Given the description of an element on the screen output the (x, y) to click on. 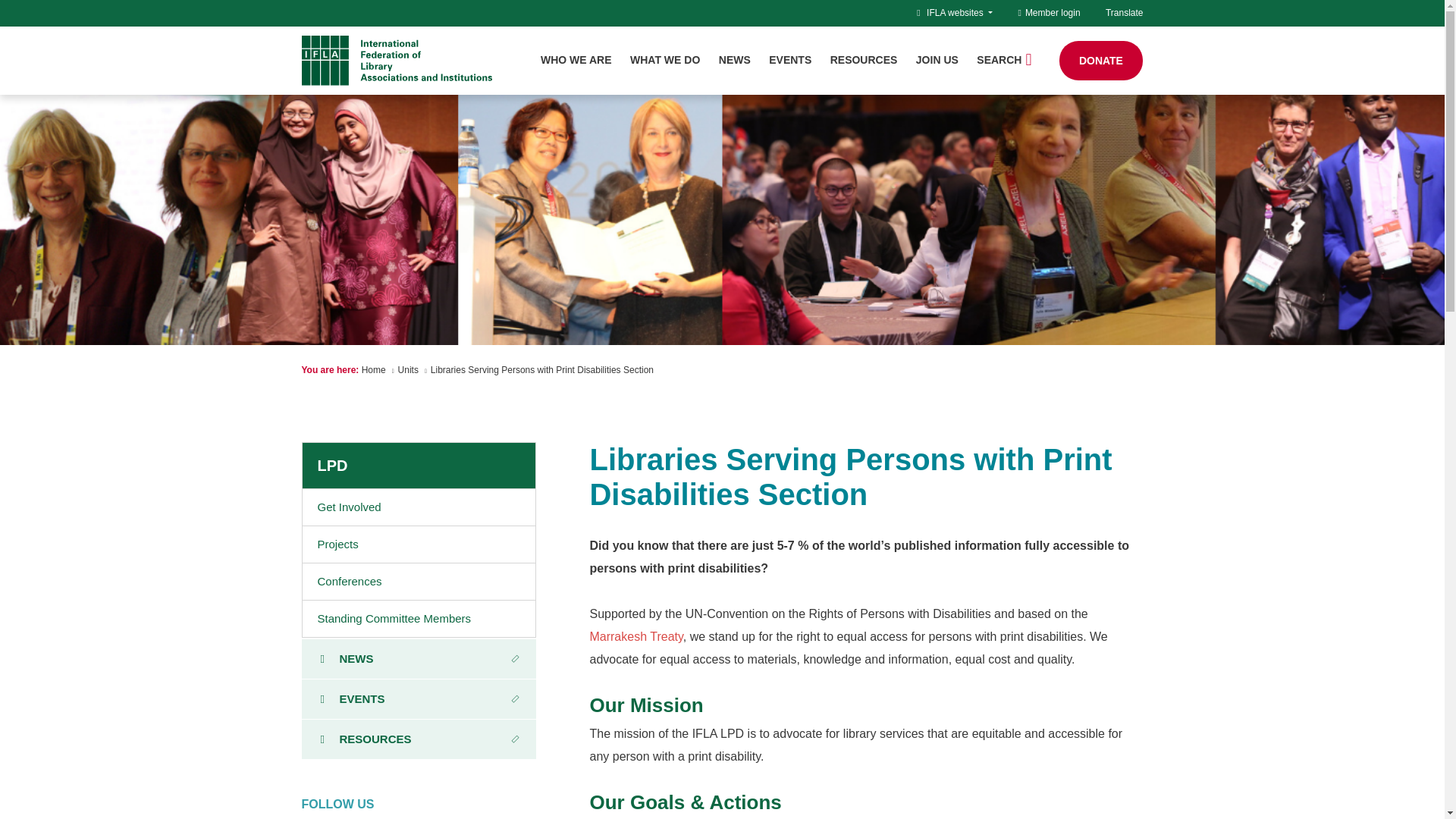
WHAT WE DO (665, 60)
Translate (1123, 12)
WHO WE ARE (575, 60)
units (408, 369)
RESOURCES (863, 60)
Libraries Serving Persons with Print Disabilities Section (541, 369)
Home (373, 369)
DONATE (1100, 60)
IFLA websites (959, 12)
Member login (1048, 12)
